Given the description of an element on the screen output the (x, y) to click on. 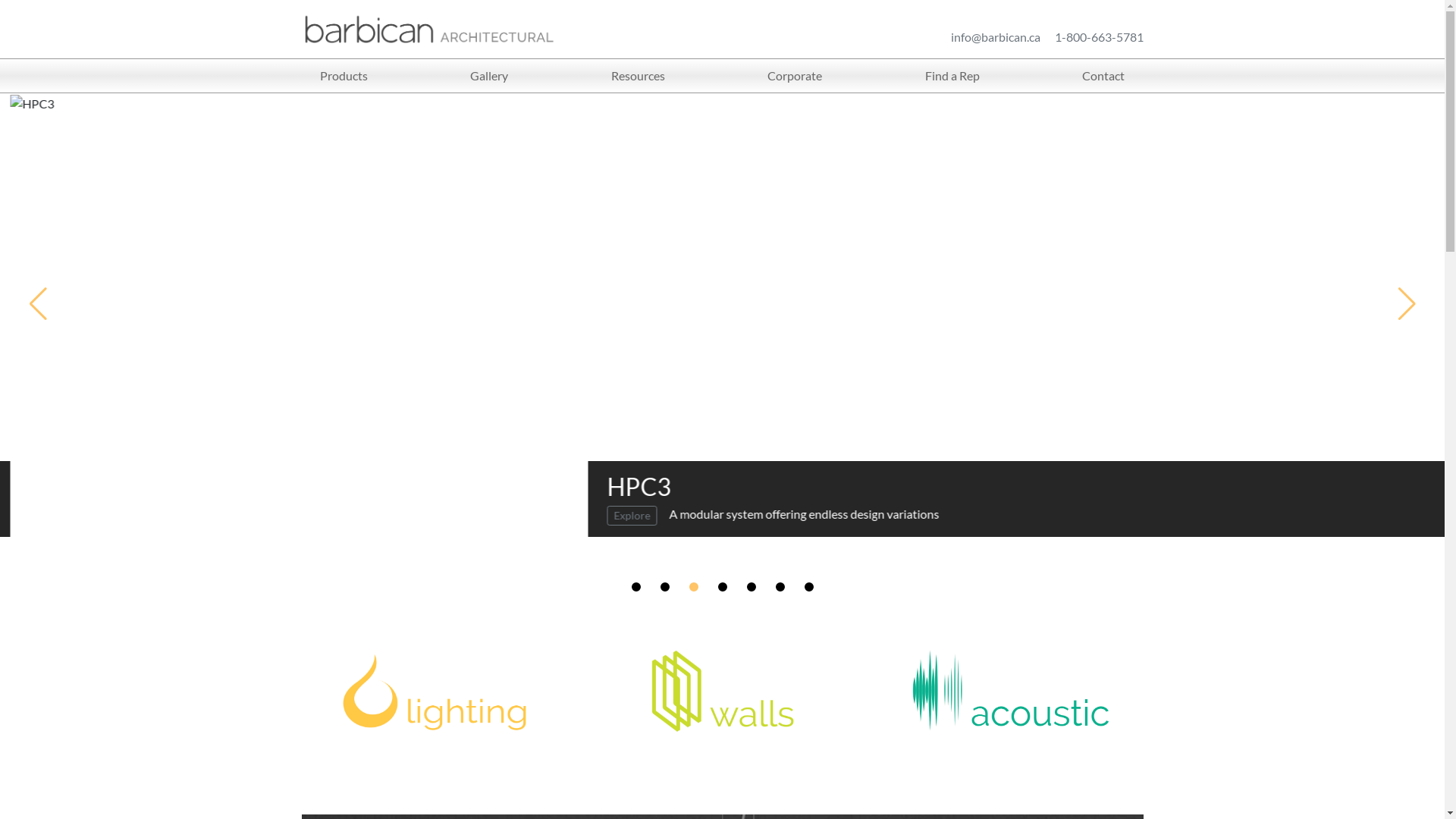
Products Element type: text (343, 75)
info@barbican.ca Element type: text (995, 36)
Contact Element type: text (1102, 75)
Resources Element type: text (638, 75)
Corporate Element type: text (794, 75)
1-800-663-5781 Element type: text (1098, 36)
Explore Element type: text (621, 515)
Find a Rep Element type: text (951, 75)
Gallery Element type: text (488, 75)
